Given the description of an element on the screen output the (x, y) to click on. 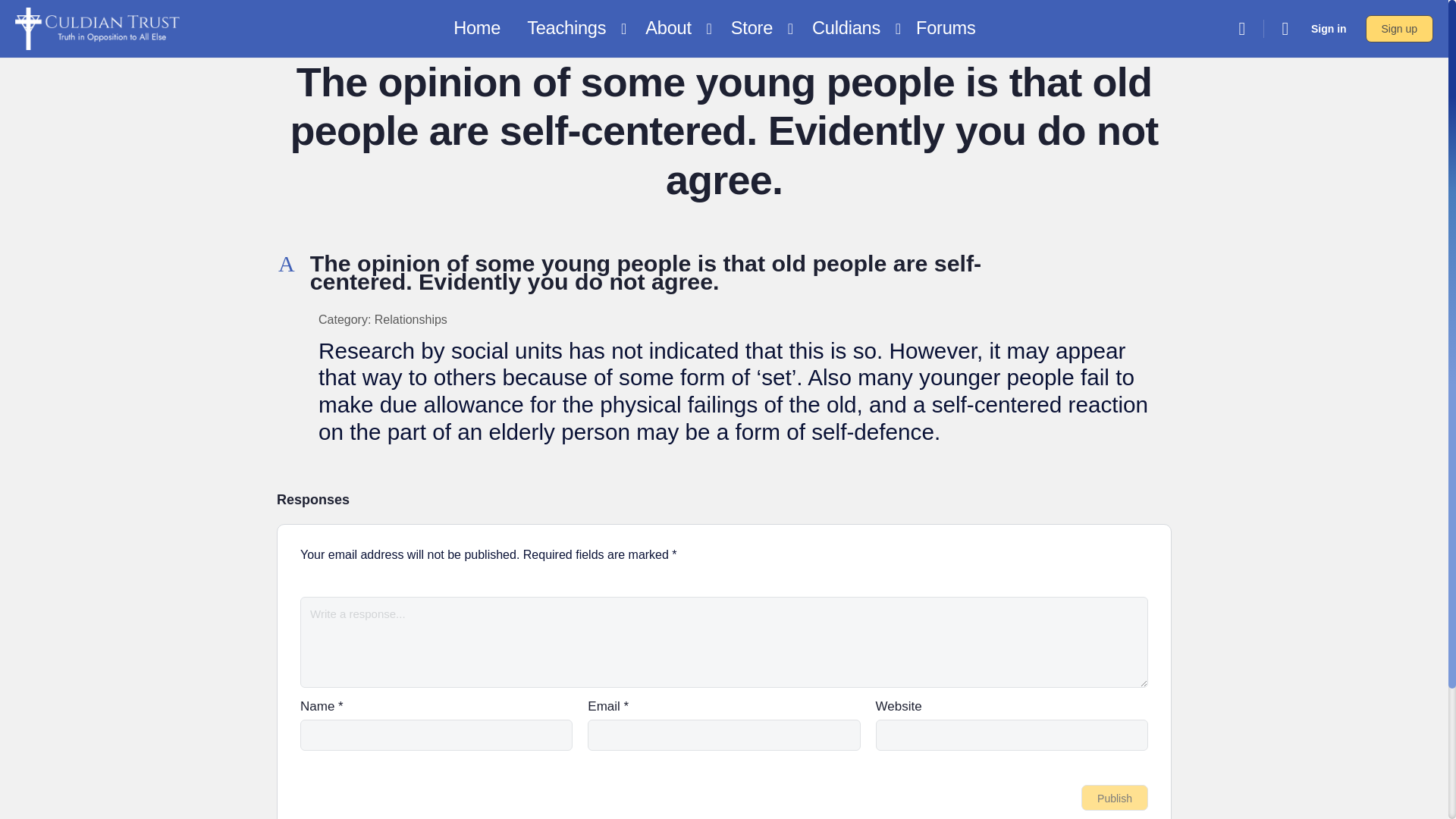
Store (758, 28)
Sign in (1328, 28)
Culdians (853, 28)
Sign up (1398, 28)
Publish (1114, 797)
Home (476, 28)
Forums (946, 28)
About (674, 28)
Teachings (572, 28)
